Given the description of an element on the screen output the (x, y) to click on. 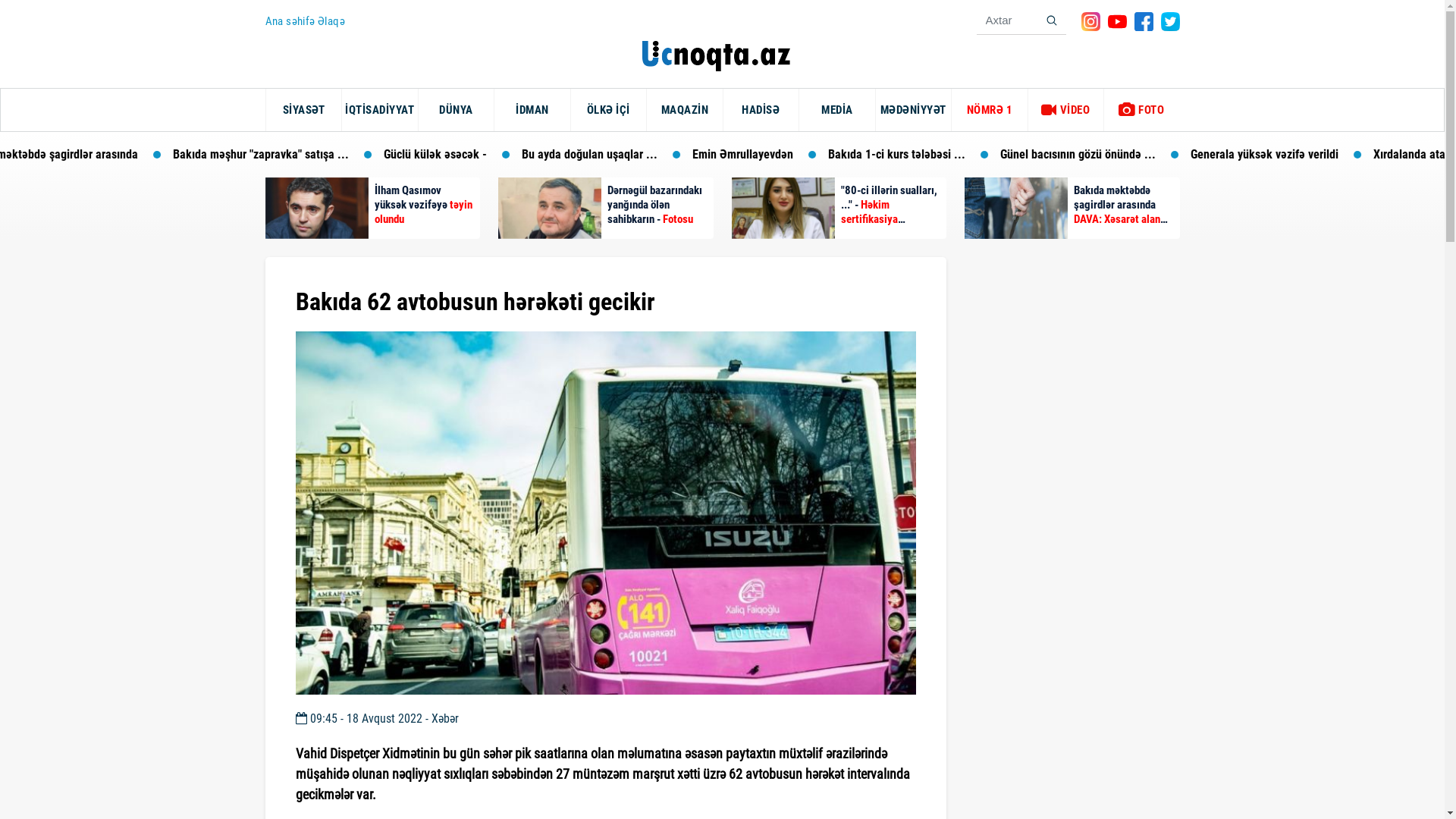
FOTO Element type: text (1141, 108)
